Given the description of an element on the screen output the (x, y) to click on. 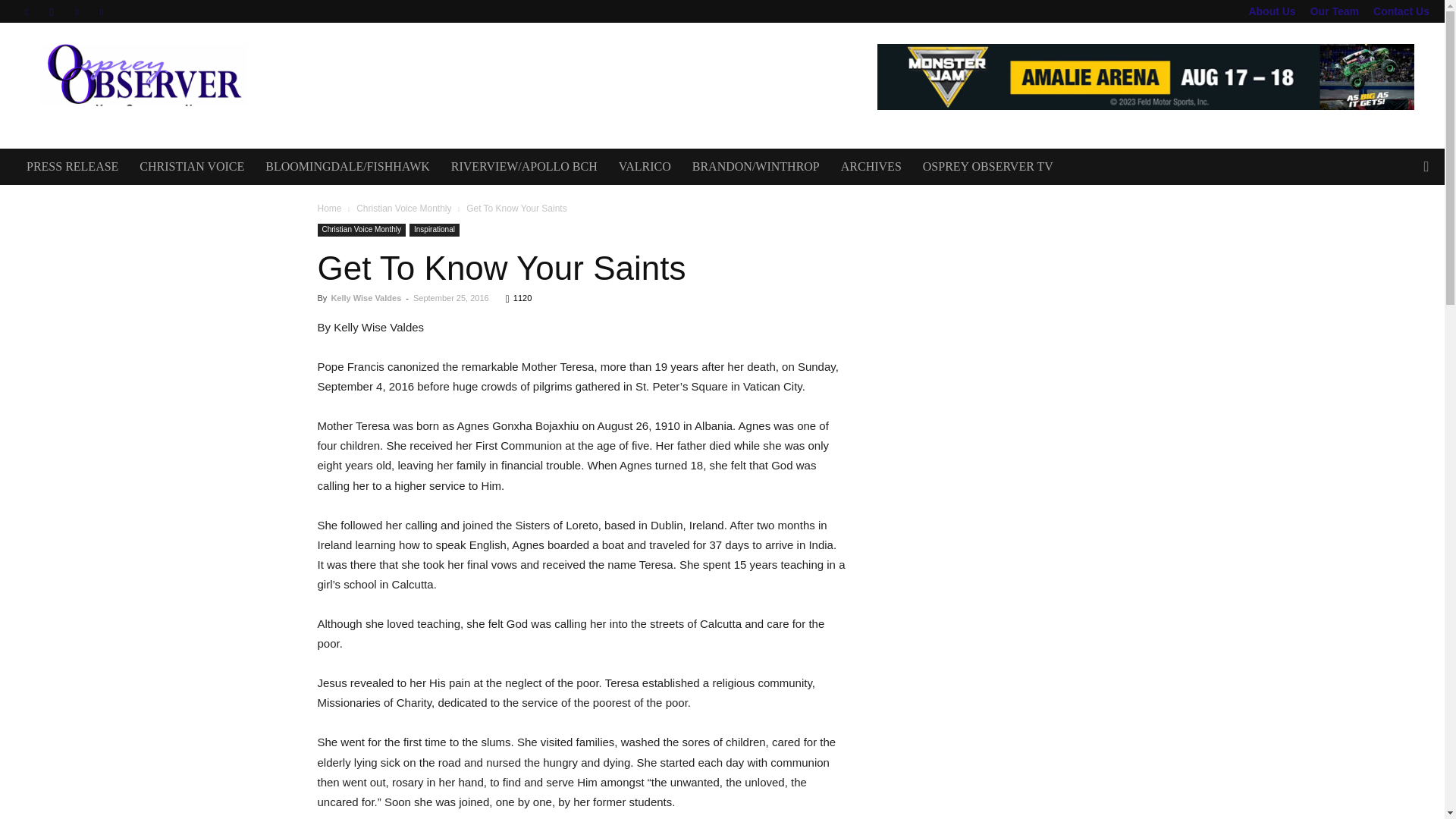
Youtube (101, 11)
Facebook (25, 11)
View all posts in Christian Voice Monthly (403, 208)
Twitter (76, 11)
Our Team (1334, 10)
About Us (1271, 10)
Instagram (51, 11)
